Given the description of an element on the screen output the (x, y) to click on. 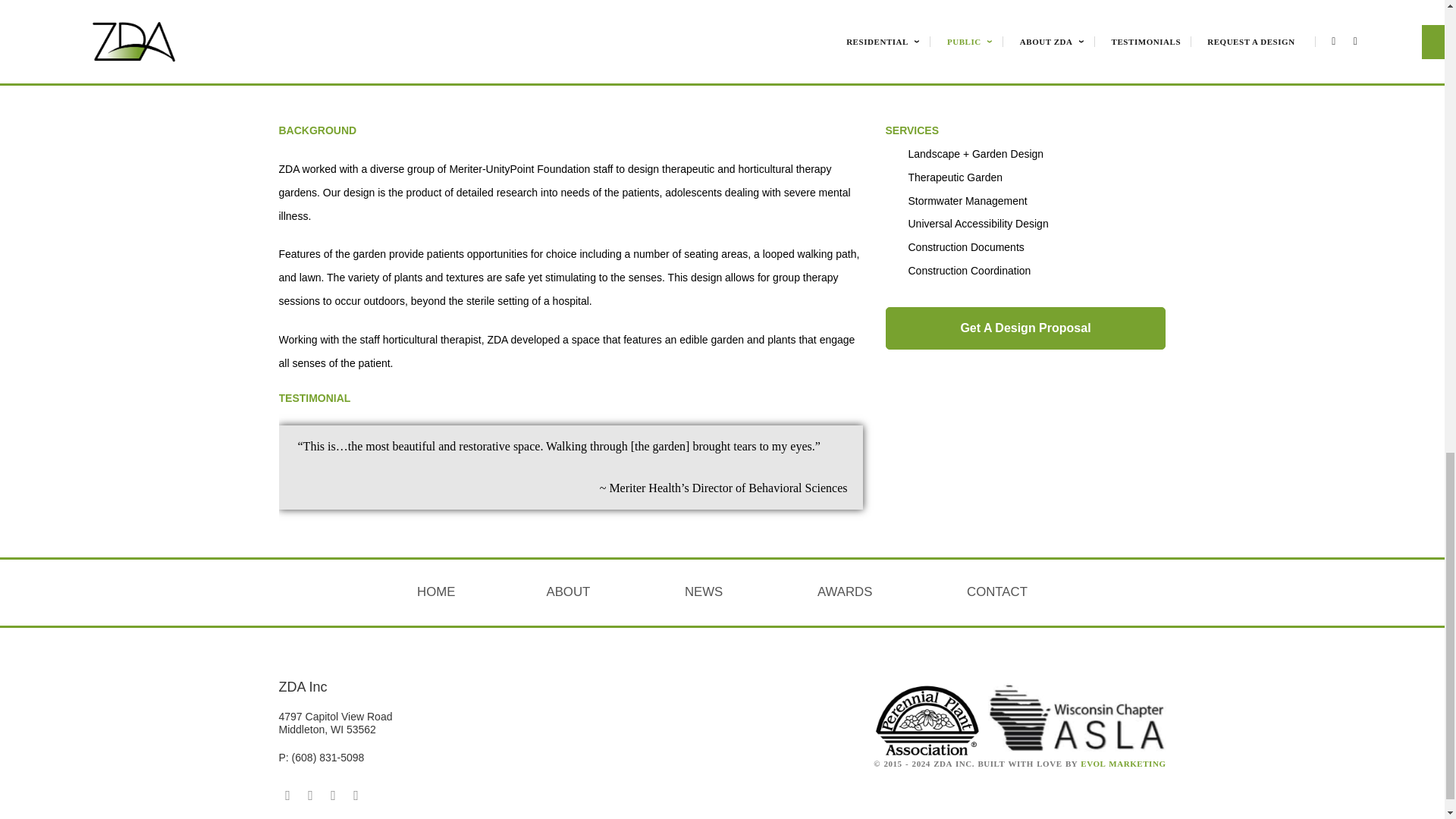
Youtube (333, 796)
Facebook (288, 796)
Houzz (356, 796)
kids helping at MCMS (537, 35)
GooglePlus (310, 796)
